Given the description of an element on the screen output the (x, y) to click on. 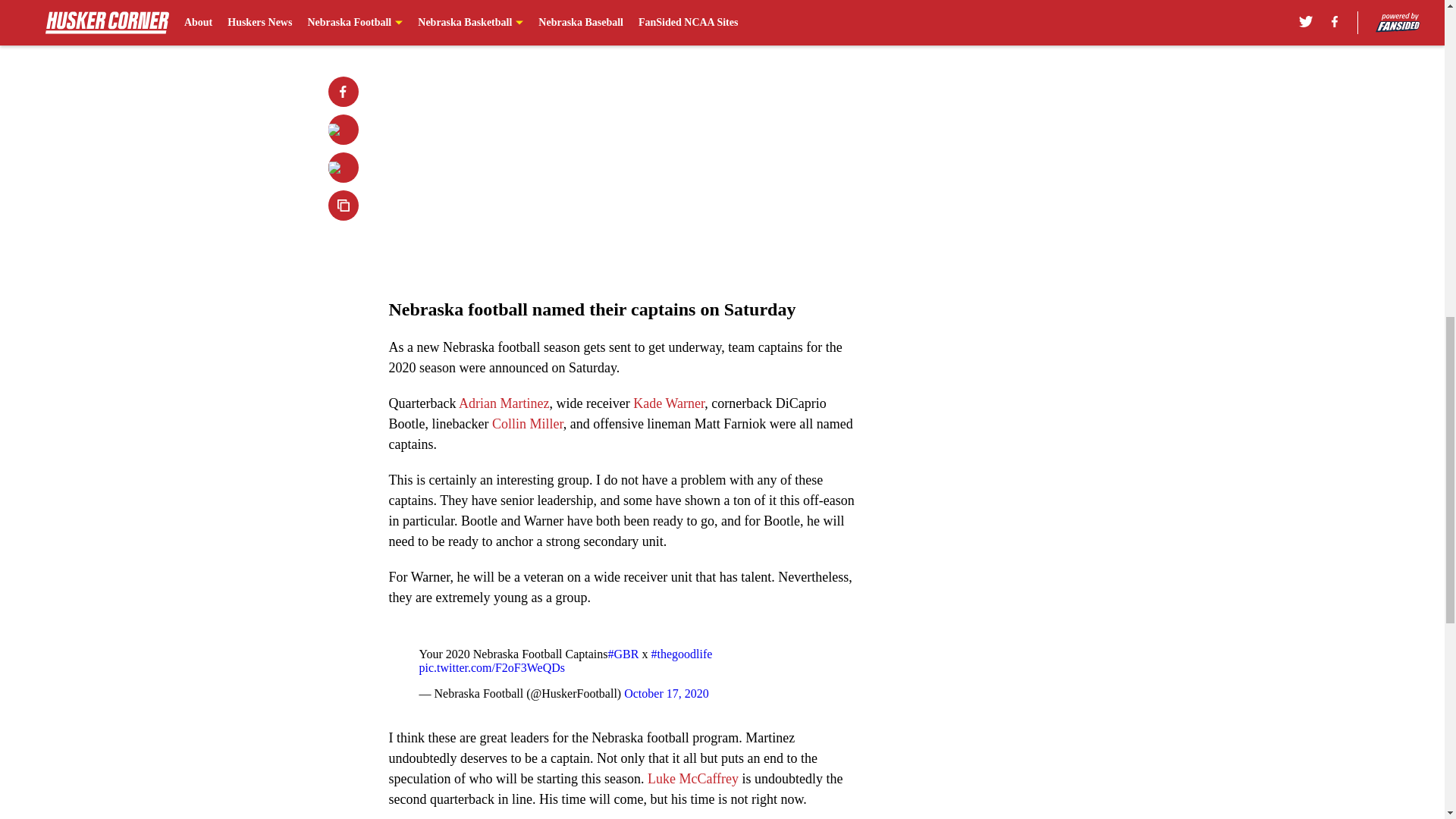
October 17, 2020 (666, 693)
Adrian Martinez (503, 403)
Collin Miller (527, 423)
Kade Warner (668, 403)
Luke McCaffrey (692, 778)
